Given the description of an element on the screen output the (x, y) to click on. 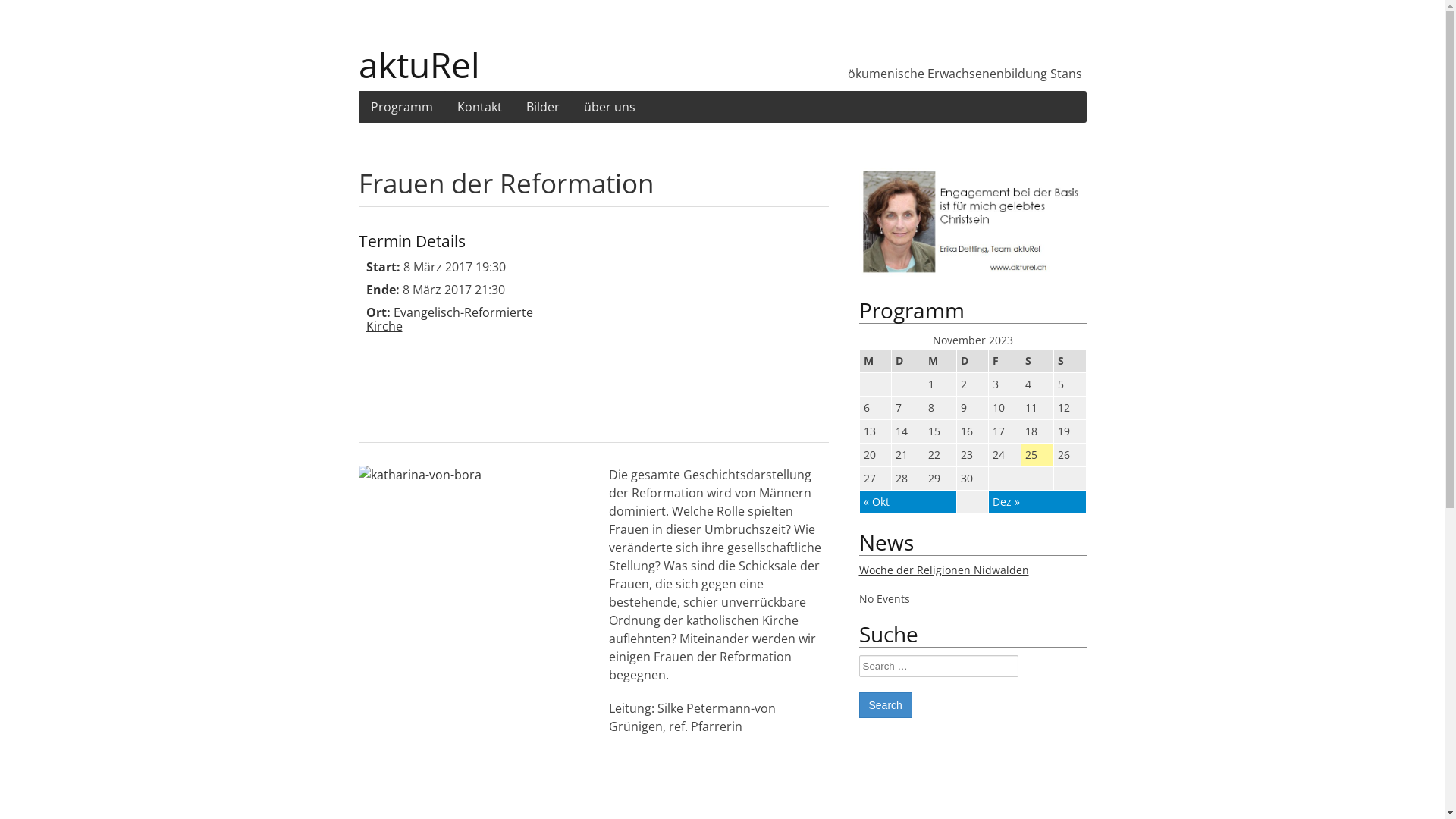
Search Element type: text (884, 705)
Bilder Element type: text (542, 106)
Evangelisch-Reformierte Kirche Element type: text (448, 319)
Woche der Religionen Nidwalden Element type: text (943, 569)
Kontakt Element type: text (478, 106)
Programm Element type: text (400, 106)
Frauen der Reformation Element type: text (504, 182)
aktuRel Element type: text (539, 56)
